Given the description of an element on the screen output the (x, y) to click on. 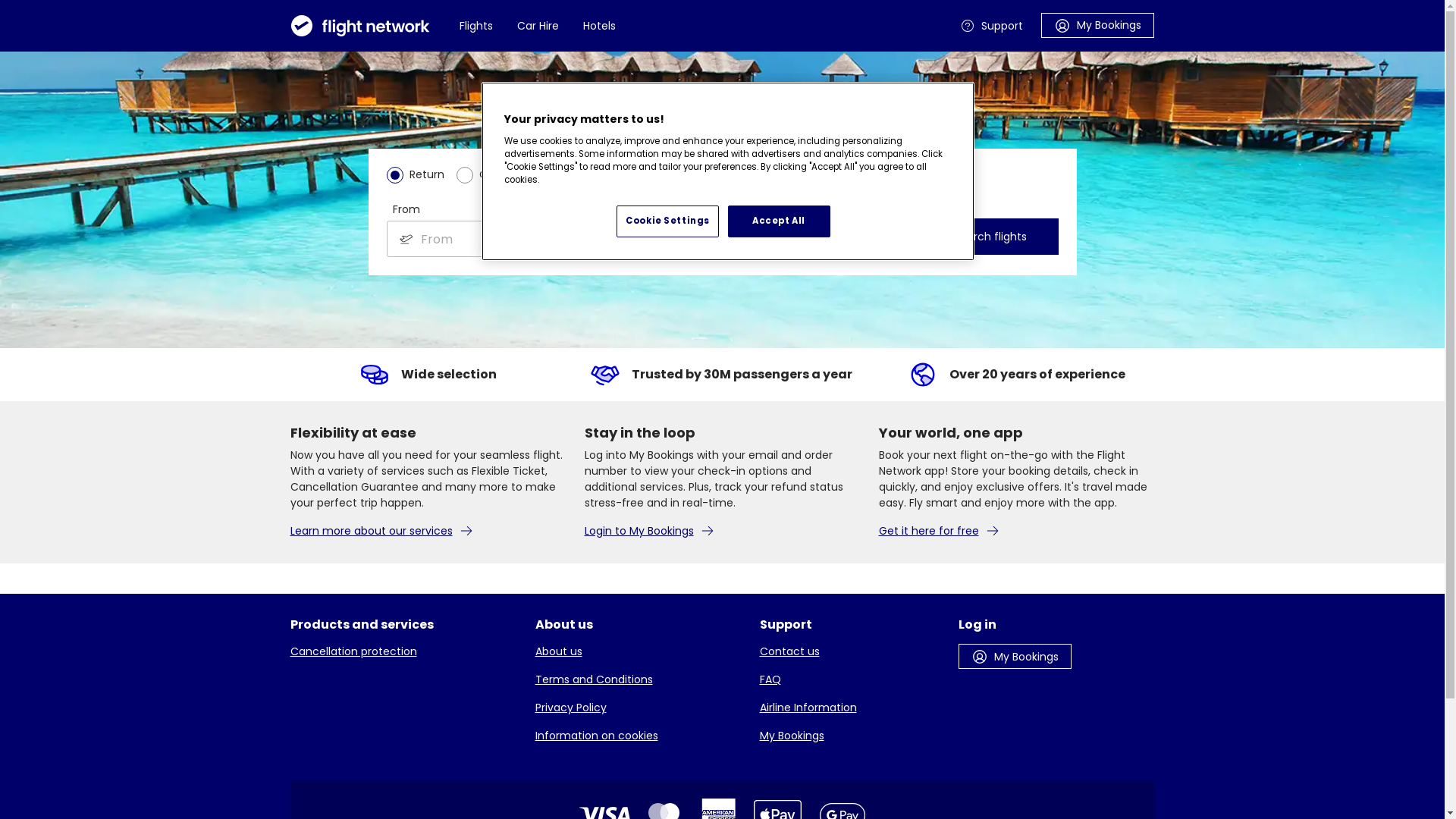
Accept All Element type: text (779, 221)
Car Hire Element type: text (537, 26)
Cancellation protection Element type: text (402, 651)
Search flights Element type: text (990, 236)
My Bookings Element type: text (849, 735)
My Bookings Element type: text (1096, 24)
Privacy Policy Element type: text (638, 707)
About us Element type: text (638, 651)
FAQ Element type: text (849, 679)
Get it here for free Element type: text (1016, 531)
Login to My Bookings Element type: text (721, 531)
Flights Element type: text (475, 26)
Cookie Settings Element type: text (667, 221)
Information on cookies Element type: text (638, 735)
Hotels Element type: text (599, 26)
Contact us Element type: text (849, 651)
My Bookings Element type: text (1014, 655)
Learn more about our services Element type: text (427, 531)
Terms and Conditions Element type: text (638, 679)
Support Element type: text (991, 26)
Airline Information Element type: text (849, 707)
